Given the description of an element on the screen output the (x, y) to click on. 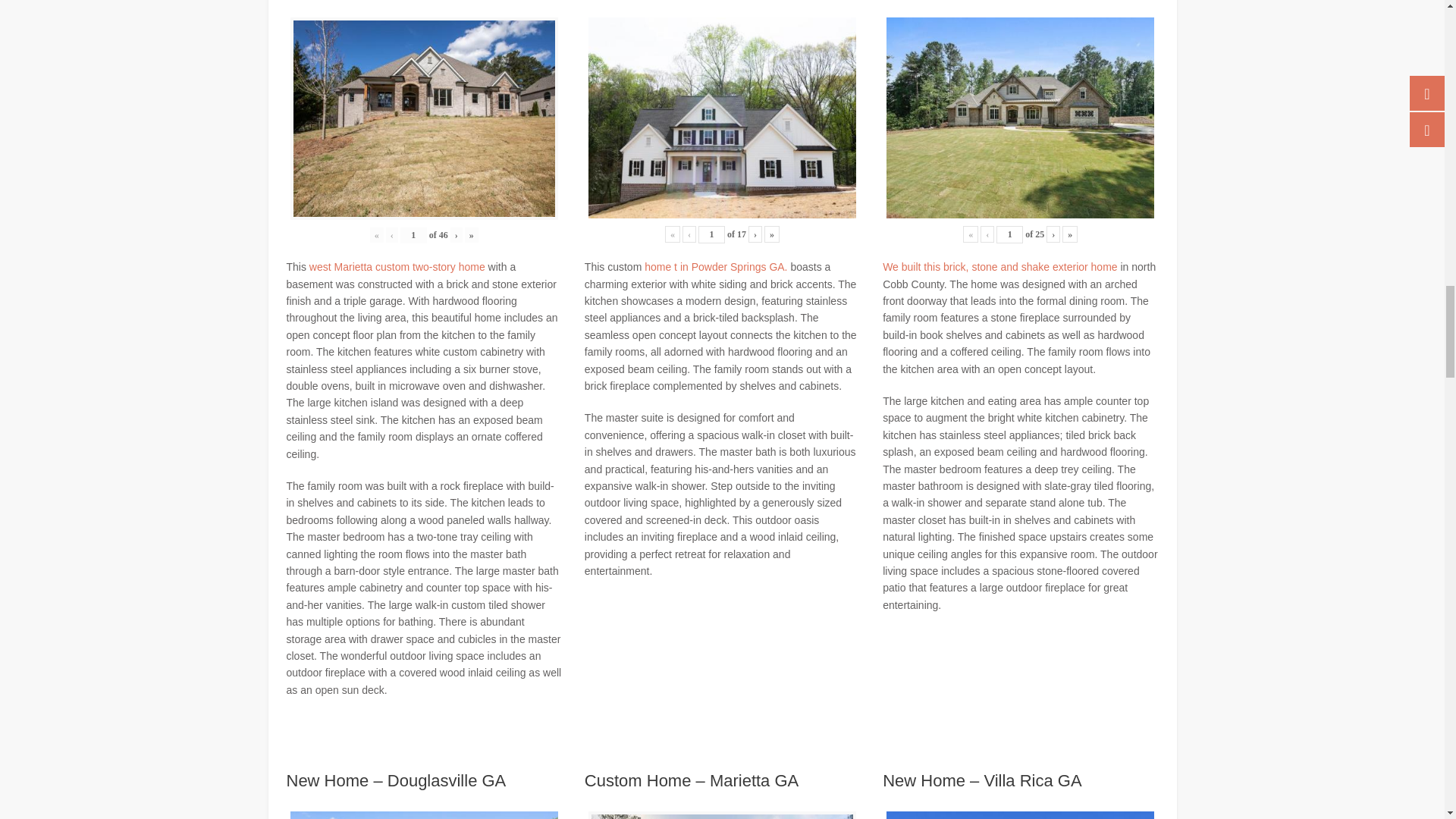
1 (1009, 234)
1 (711, 234)
1 (413, 235)
